Given the description of an element on the screen output the (x, y) to click on. 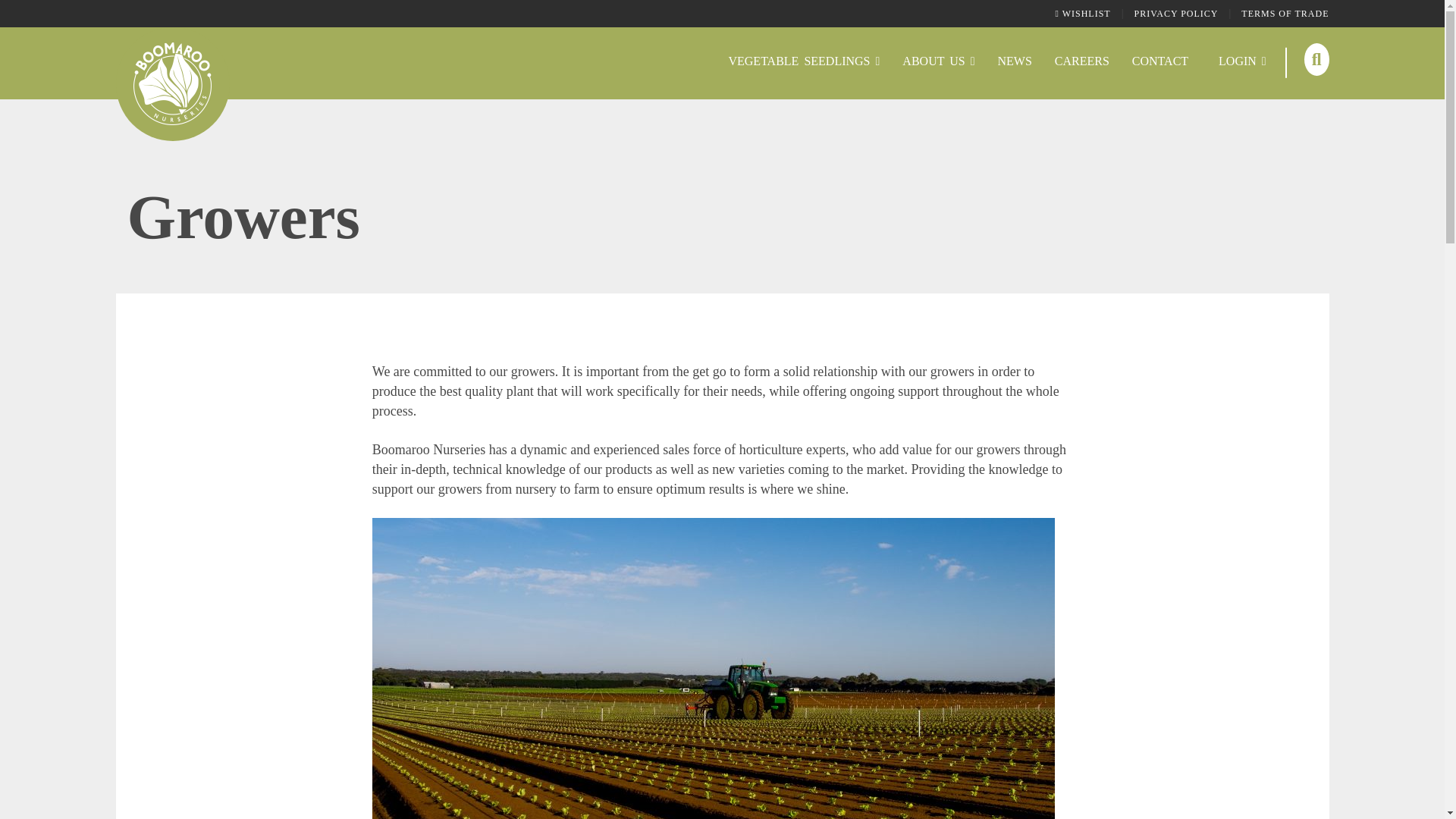
VEGETABLE SEEDLINGS (803, 63)
CAREERS (1082, 63)
WISHLIST (1082, 13)
Login (1242, 63)
ABOUT US (938, 63)
PRIVACY POLICY (1176, 13)
LOGIN (1242, 63)
Contact (1160, 63)
About Us (938, 63)
Vegetable Seedlings (803, 63)
